Given the description of an element on the screen output the (x, y) to click on. 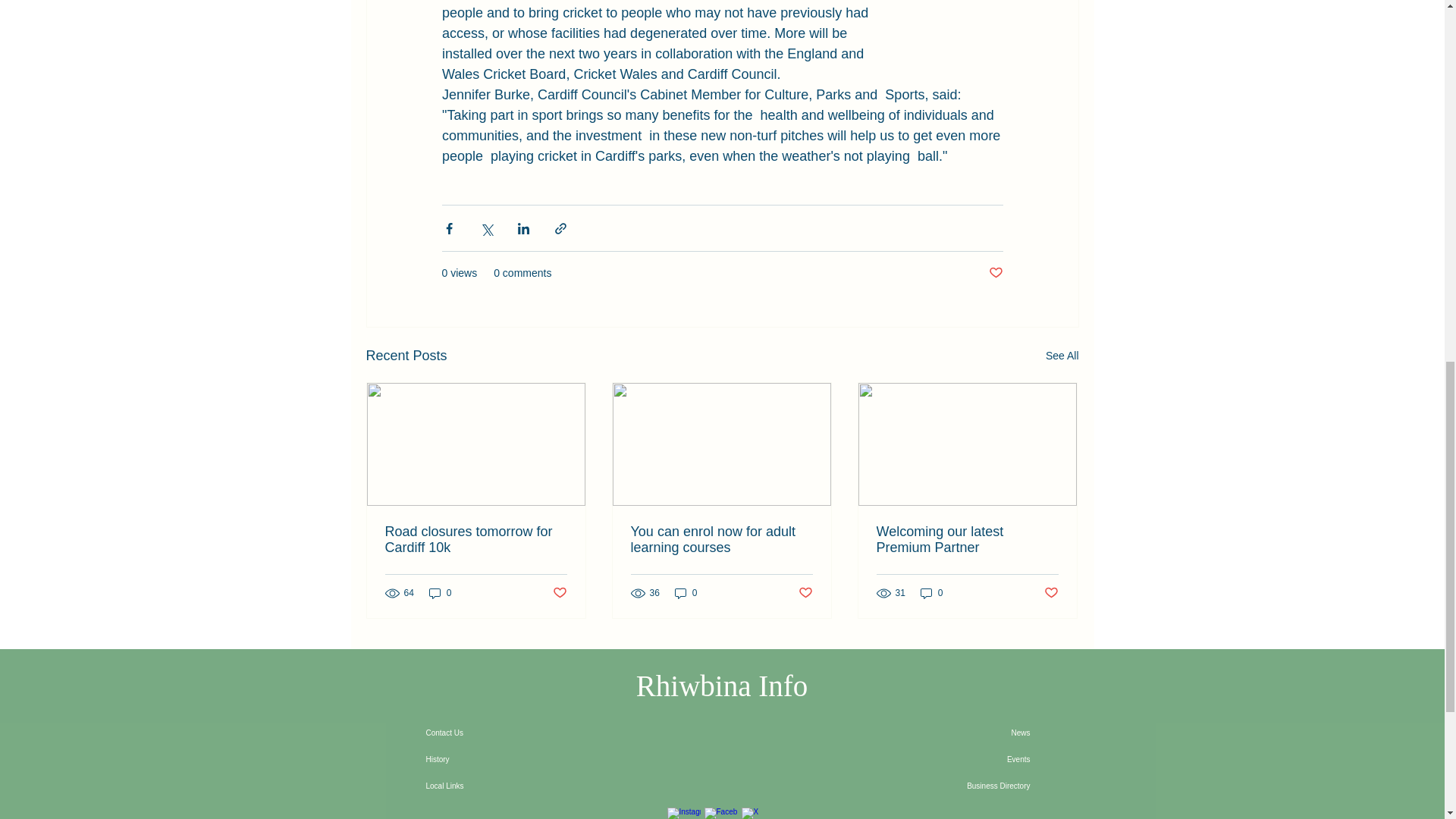
See All (1061, 355)
Post not marked as liked (558, 593)
You can enrol now for adult learning courses (721, 540)
Welcoming our latest Premium Partner (967, 540)
Post not marked as liked (995, 273)
0 (440, 592)
0 (685, 592)
Road closures tomorrow for Cardiff 10k (476, 540)
Post not marked as liked (804, 593)
